Given the description of an element on the screen output the (x, y) to click on. 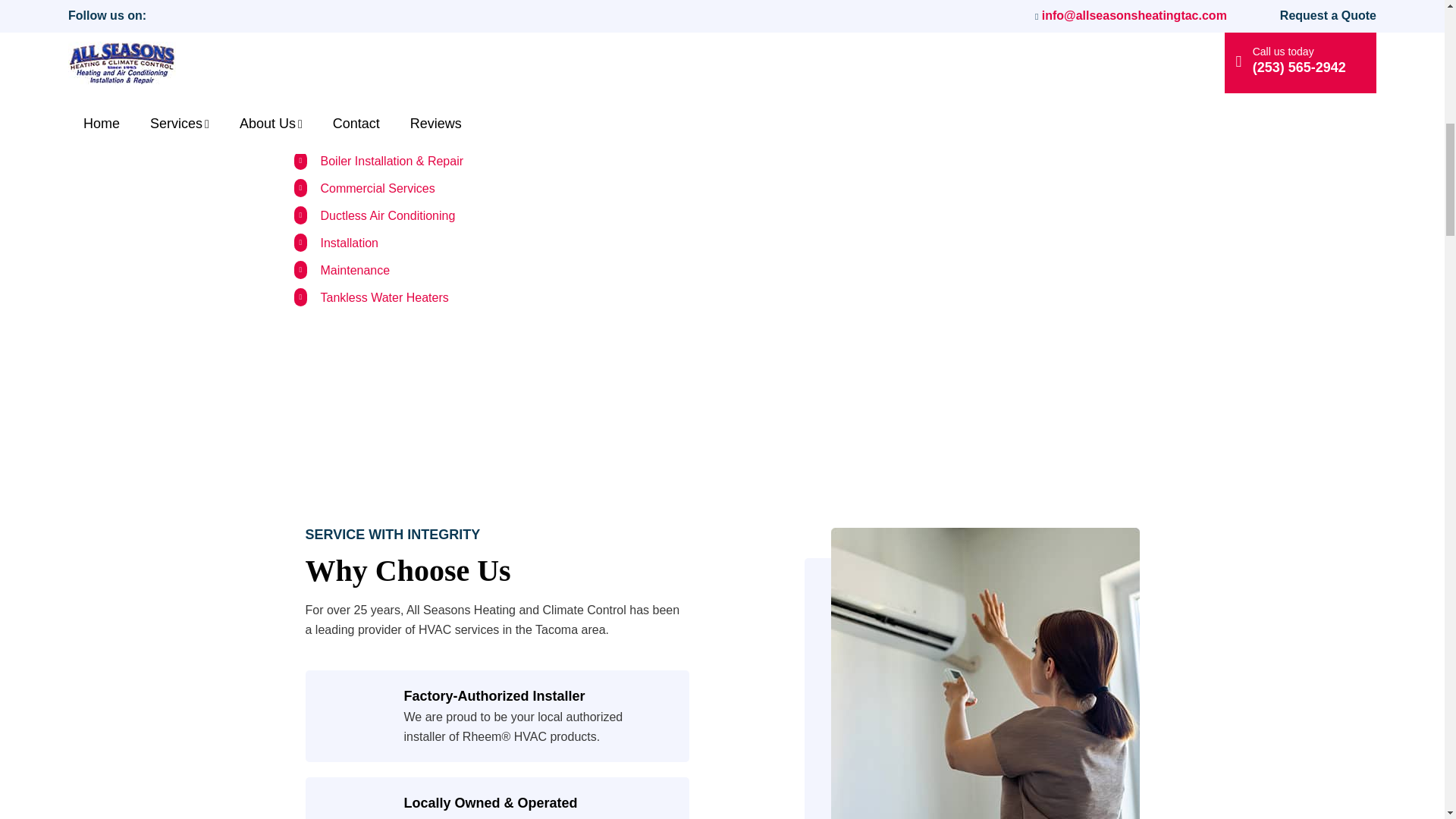
Commercial Services (376, 187)
Reviews (316, 106)
Contact (315, 2)
Services (317, 133)
Privacy Policy (331, 78)
Gallery (313, 24)
Home (310, 51)
Ductless Air Conditioning (387, 215)
Why Choose Us (985, 673)
Maintenance (355, 269)
